Given the description of an element on the screen output the (x, y) to click on. 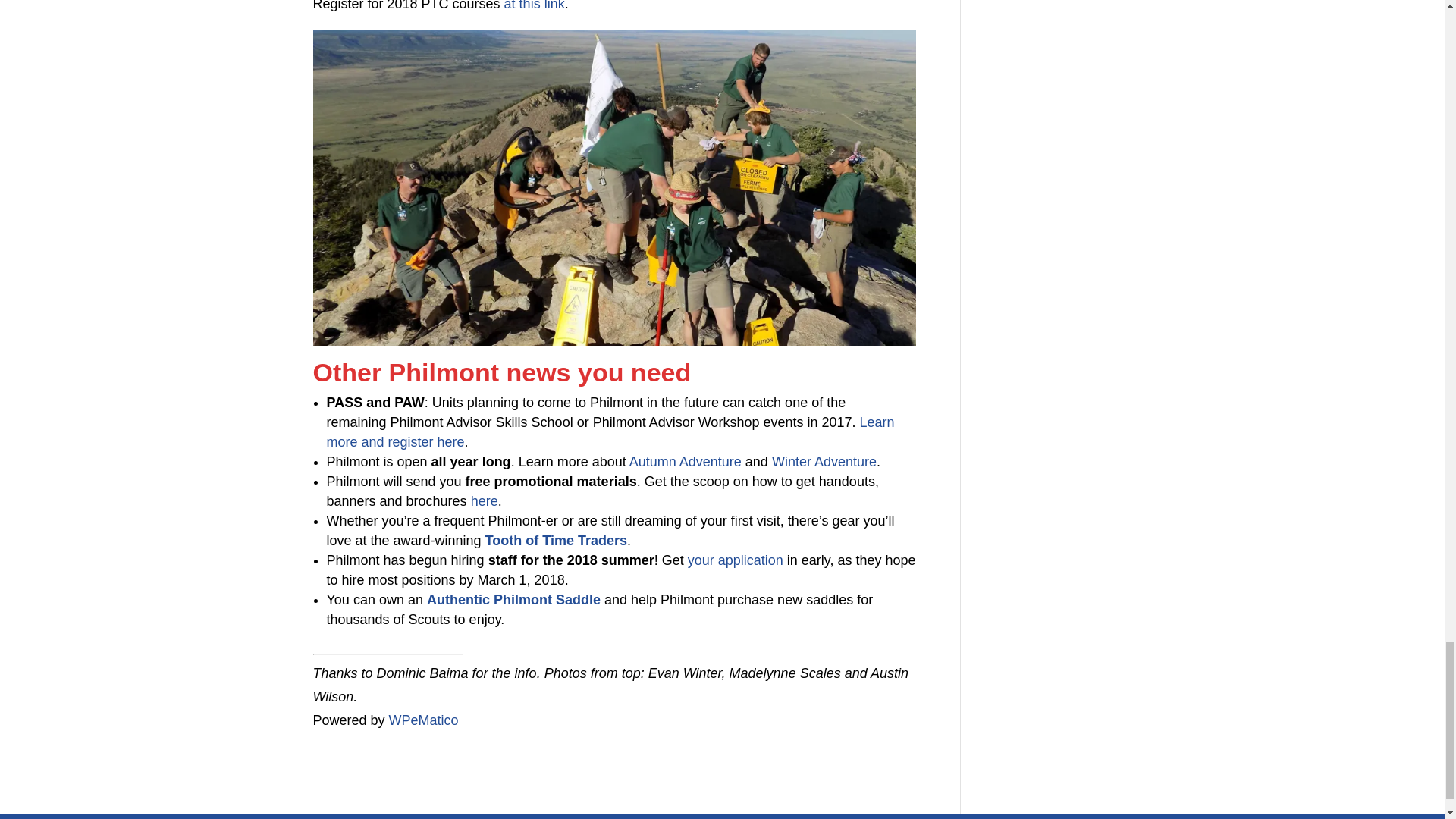
Winter Adventure (823, 461)
Authentic Philmont Saddle (512, 599)
Tooth of Time Traders (555, 540)
at this link (533, 5)
Autumn Adventure (684, 461)
your application (735, 560)
here (483, 500)
Learn more and register here (609, 431)
WPeMatico (423, 720)
